Given the description of an element on the screen output the (x, y) to click on. 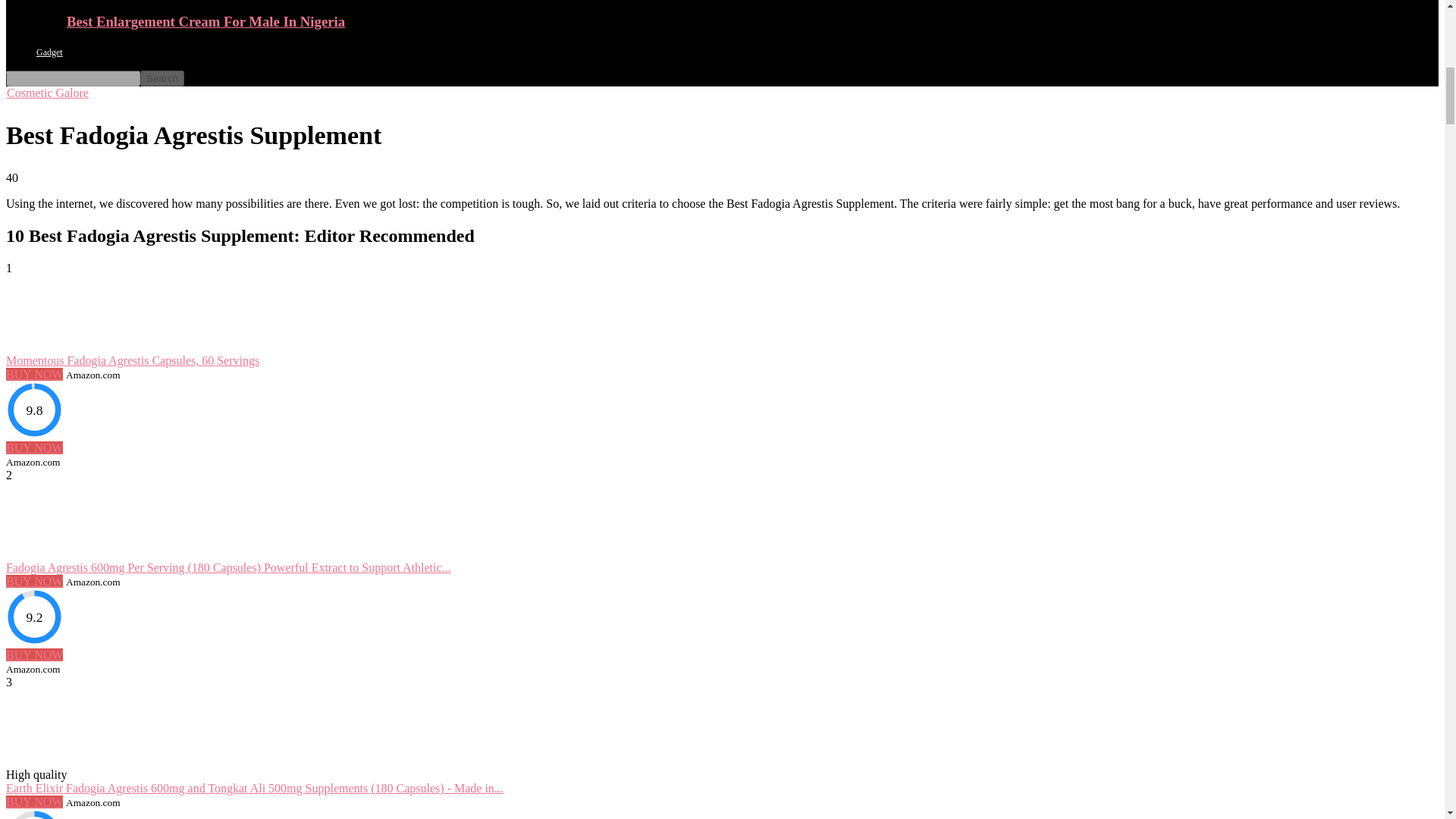
9.8 (33, 409)
Search (161, 78)
Best Enlargement Cream For Male In Nigeria (205, 21)
Momentous Fadogia Agrestis Capsules, 60 Servings (132, 359)
Cosmetic Galore (46, 92)
9.2 (33, 616)
Best Enlargement Cream For Male In Nigeria (205, 21)
8.6 (33, 814)
Search (161, 78)
Gadget (49, 51)
